Given the description of an element on the screen output the (x, y) to click on. 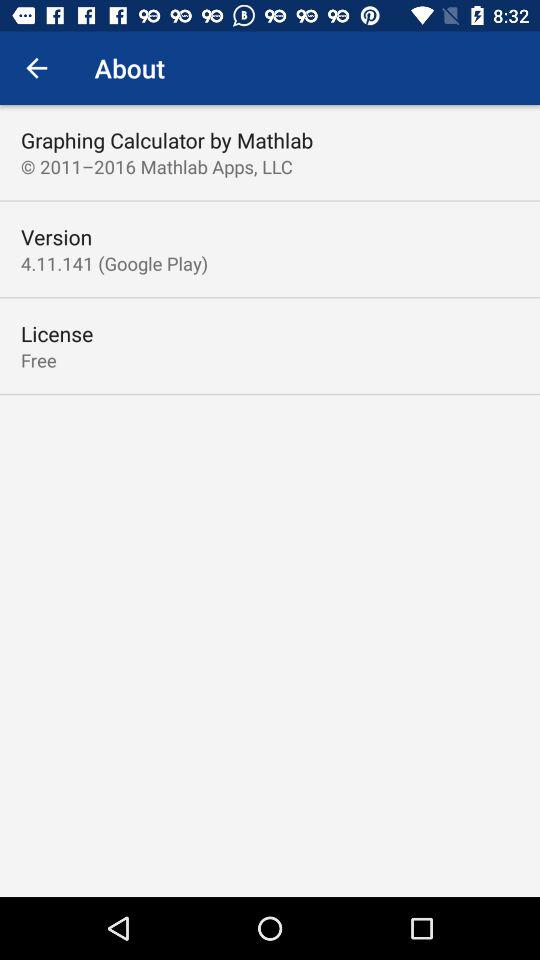
click item above 4 11 141 (56, 236)
